Given the description of an element on the screen output the (x, y) to click on. 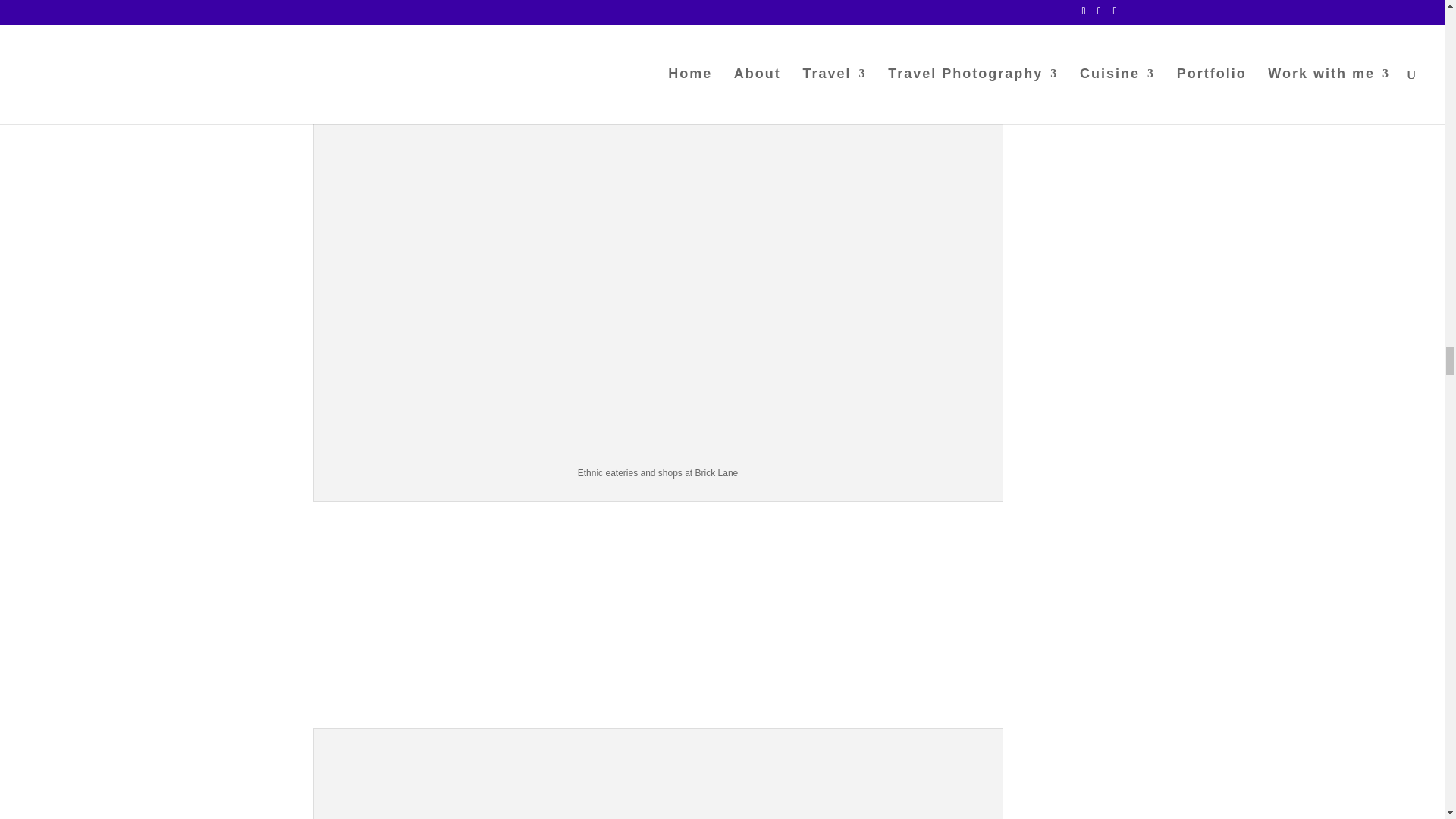
Eating London 17 (657, 776)
